Given the description of an element on the screen output the (x, y) to click on. 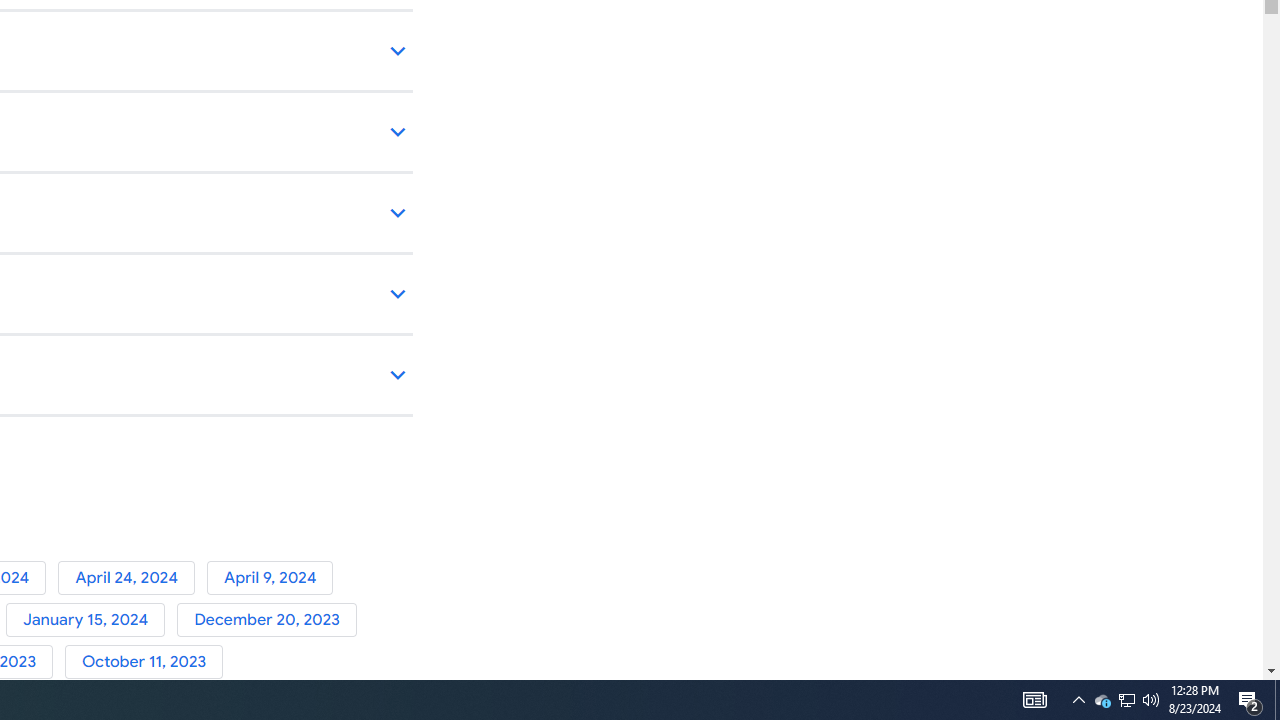
April 9, 2024 (273, 577)
April 24, 2024 (132, 577)
January 15, 2024 (91, 620)
October 11, 2023 (147, 661)
December 20, 2023 (270, 620)
